Given the description of an element on the screen output the (x, y) to click on. 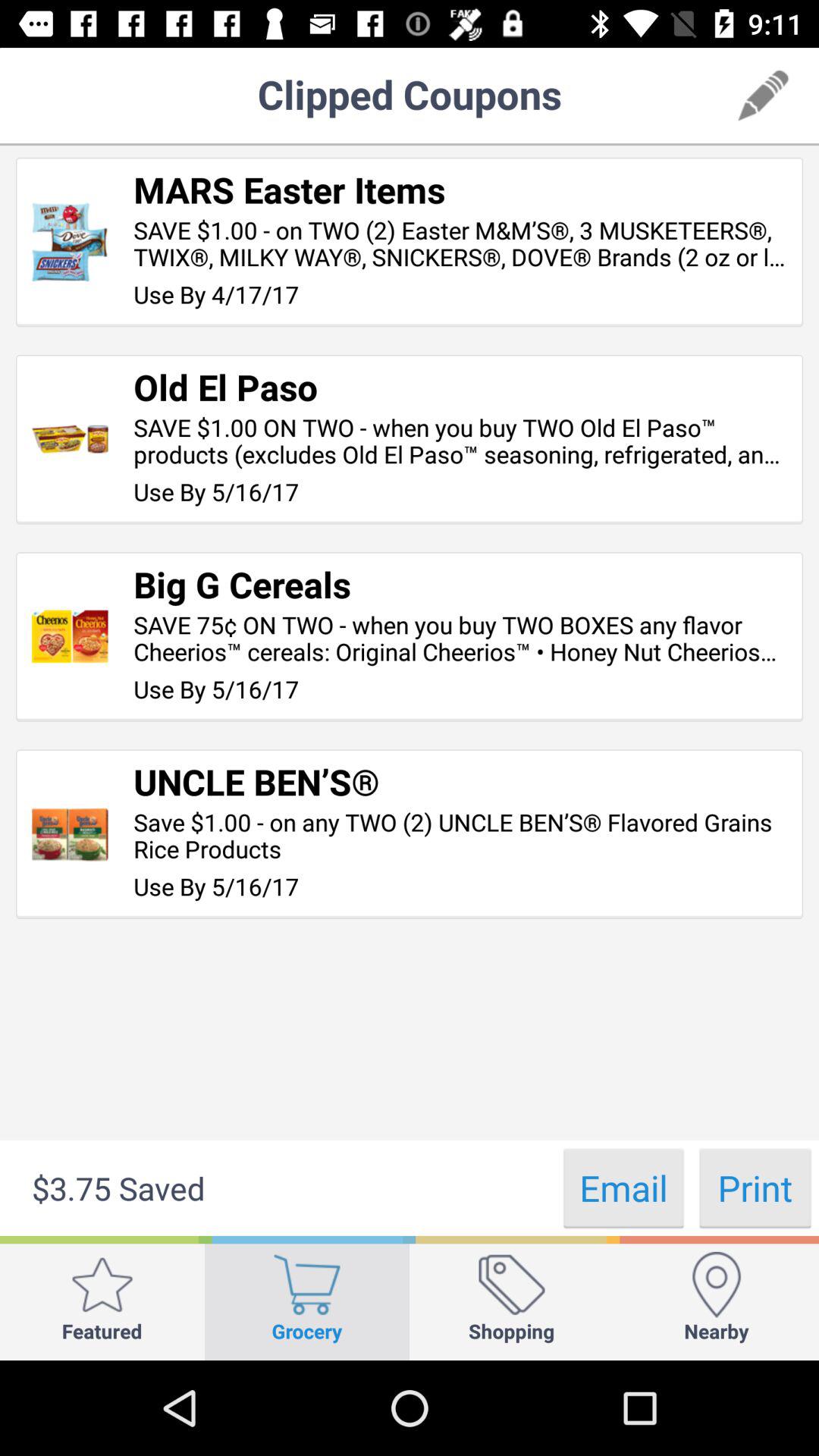
click item next to email (755, 1187)
